Given the description of an element on the screen output the (x, y) to click on. 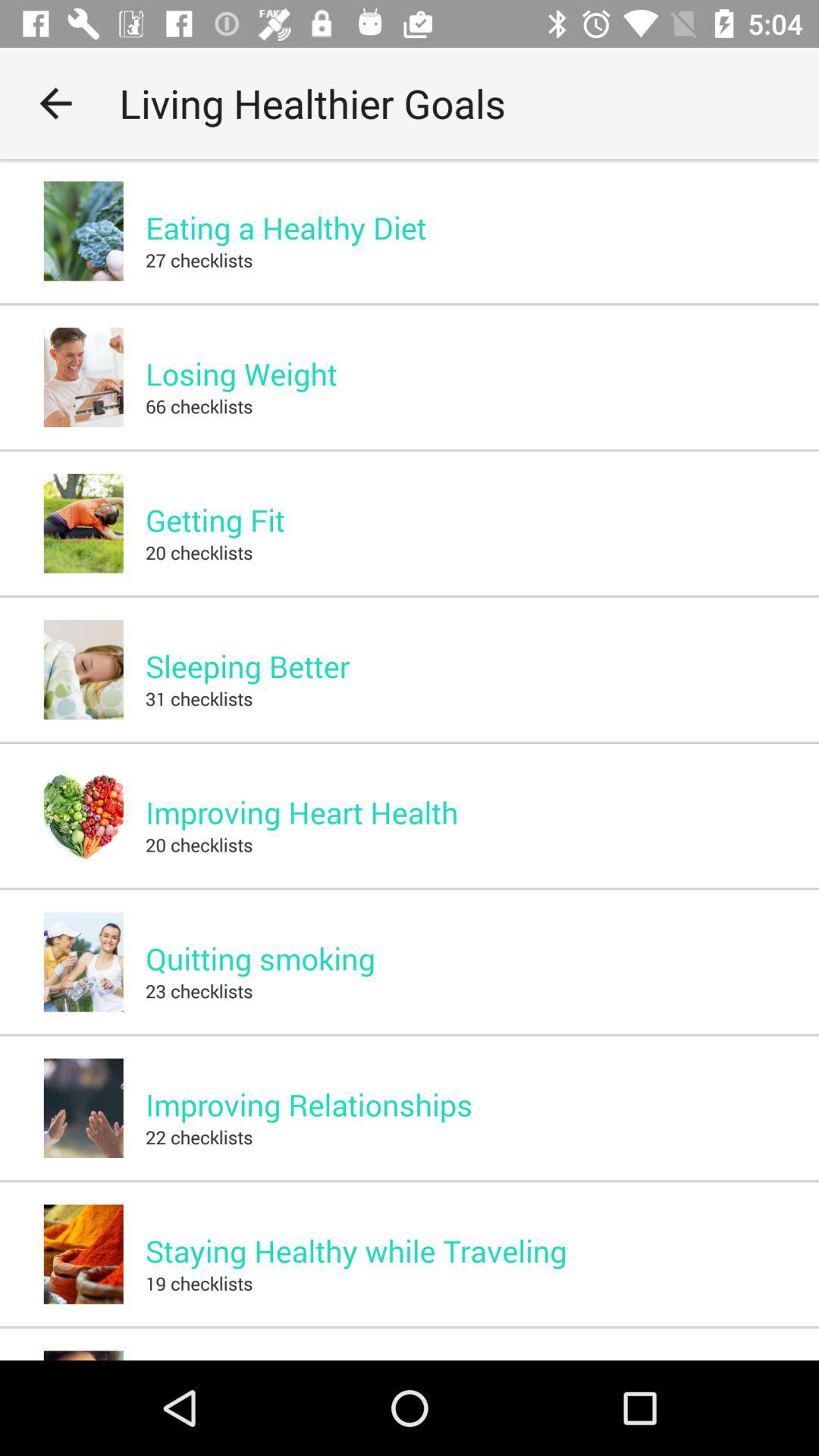
open the item to the left of living healthier goals (55, 103)
